Given the description of an element on the screen output the (x, y) to click on. 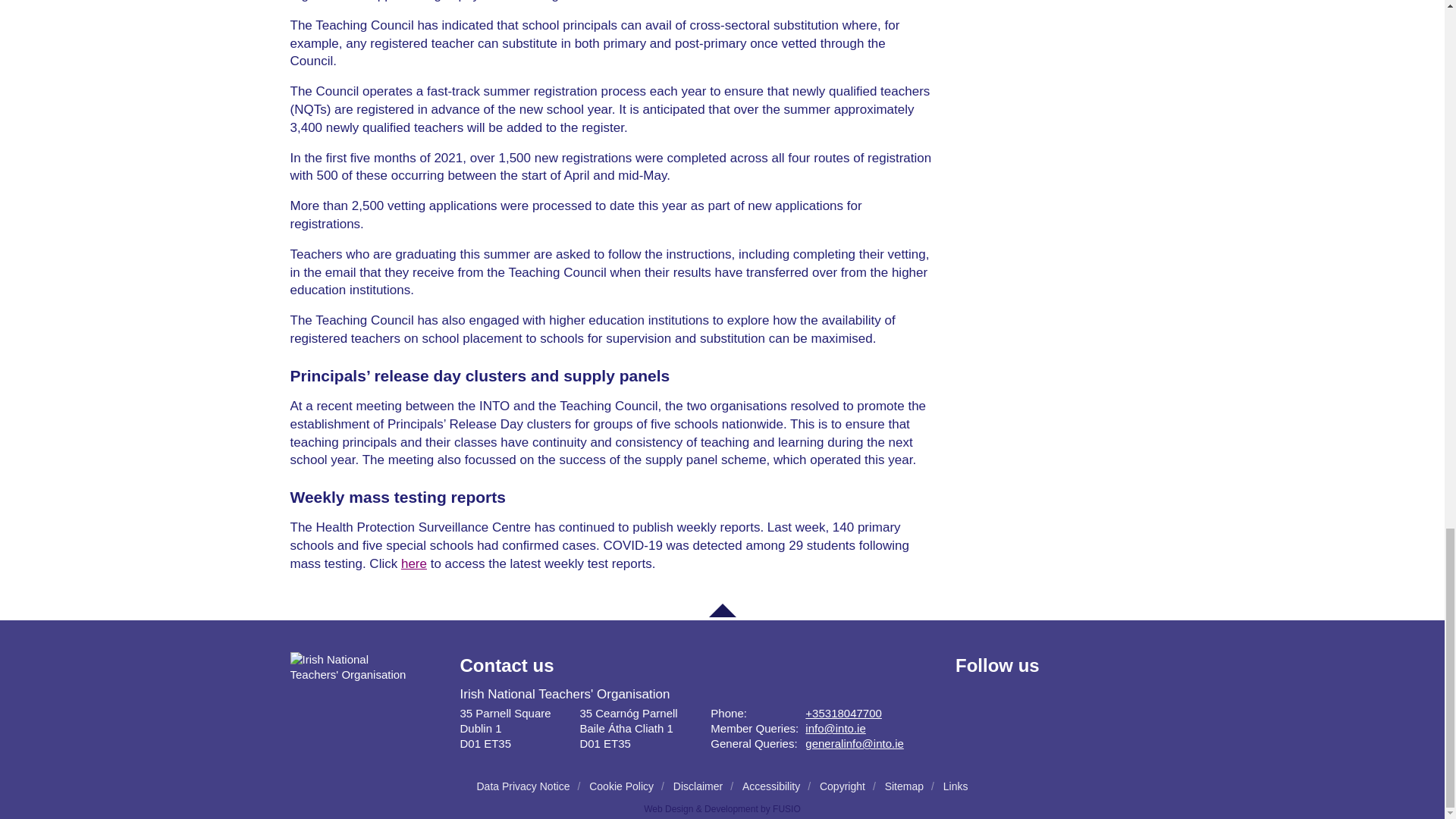
here (413, 563)
Back to top (721, 610)
Back to top of page (721, 610)
